Given the description of an element on the screen output the (x, y) to click on. 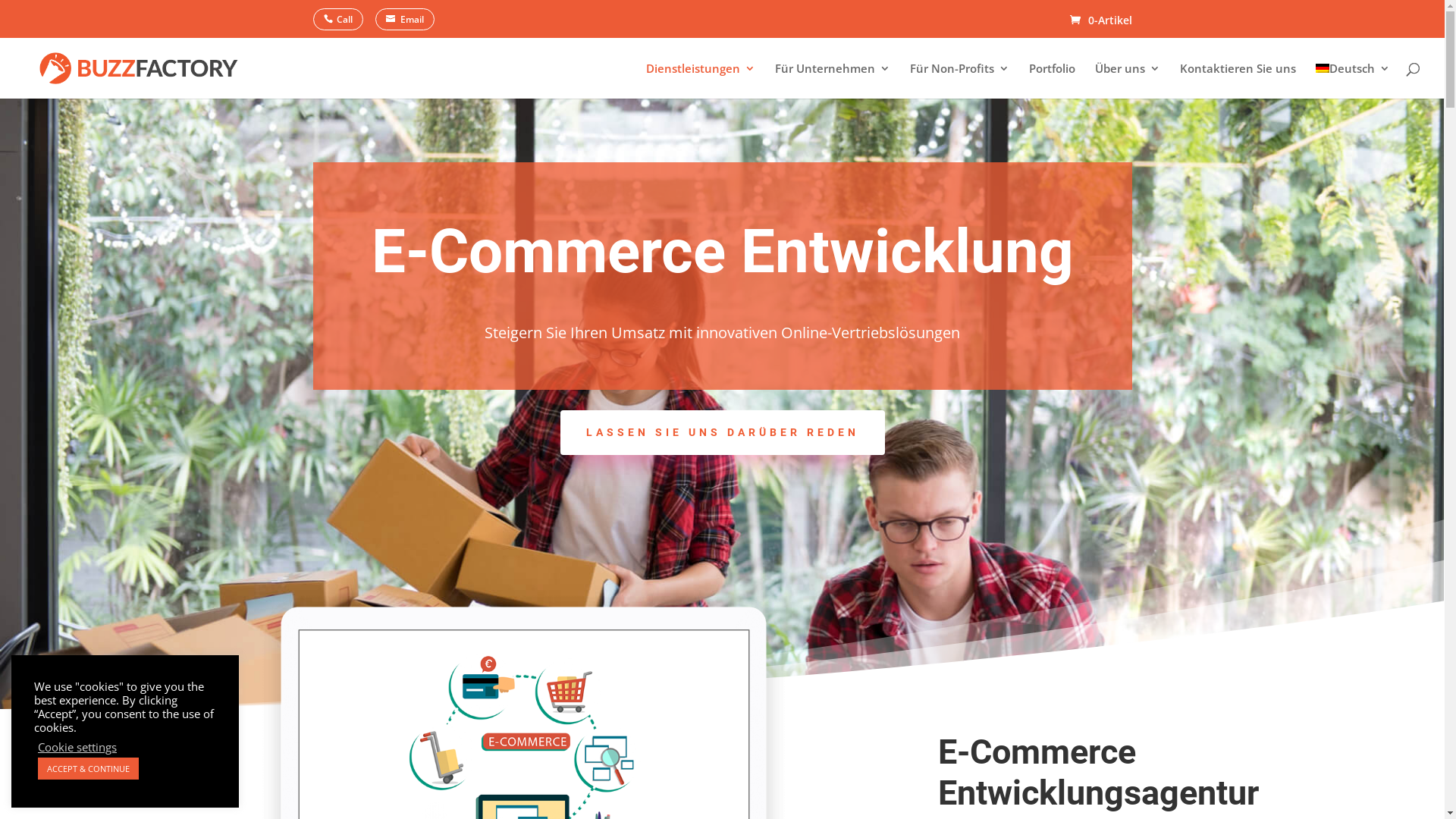
Kontaktieren Sie uns Element type: text (1237, 80)
Cookie settings Element type: text (76, 746)
Deutsch Element type: text (1352, 80)
Dienstleistungen Element type: text (700, 80)
0-Artikel Element type: text (1100, 19)
Email Element type: text (403, 19)
Call Element type: text (344, 18)
ACCEPT & CONTINUE Element type: text (87, 768)
Portfolio Element type: text (1052, 80)
